Given the description of an element on the screen output the (x, y) to click on. 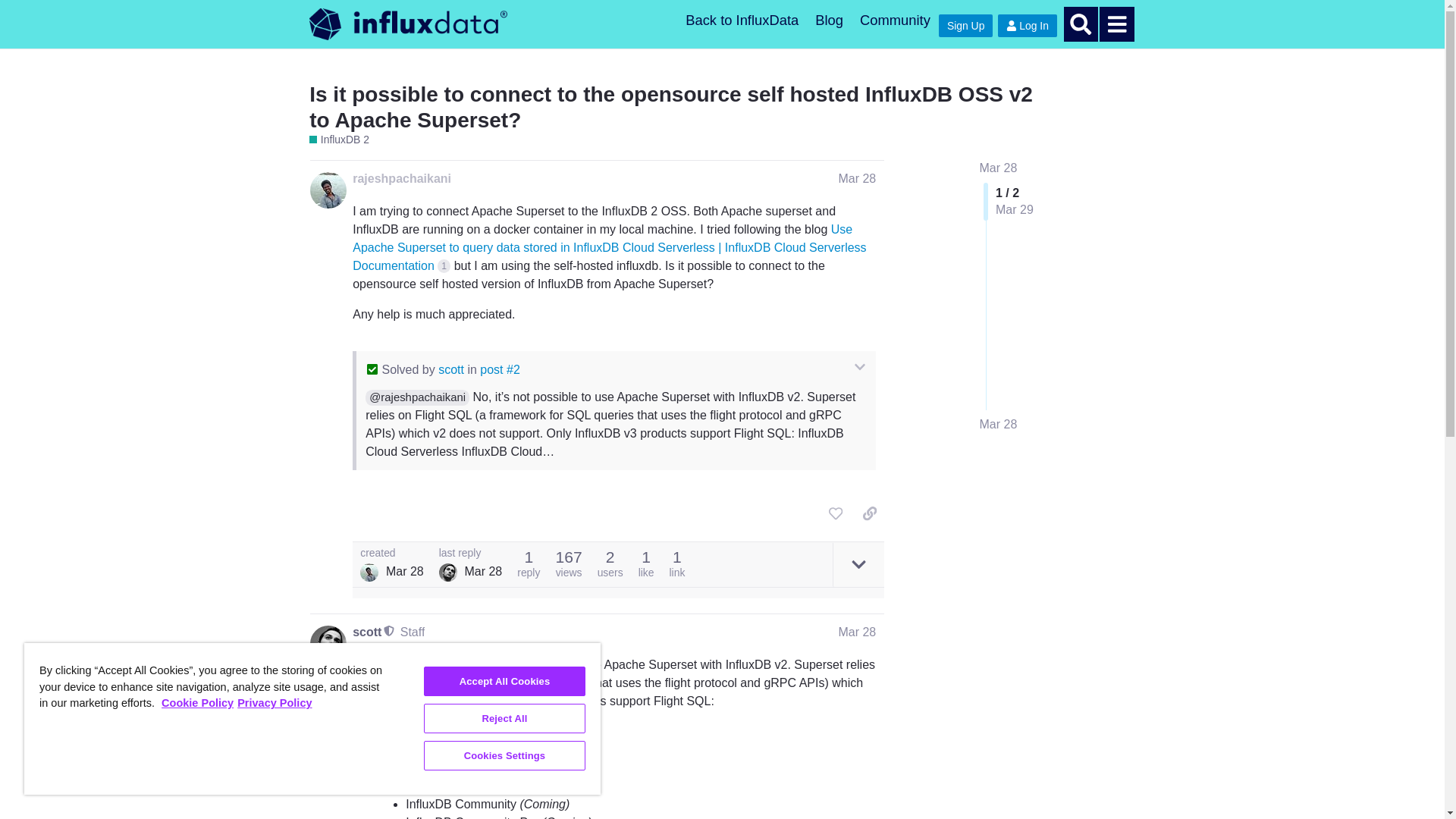
InfluxDB community showcase (895, 20)
Mar 28 (998, 167)
scott (451, 369)
Community (895, 20)
InfluxData blog posts (828, 20)
menu (1116, 23)
Mar 28 (998, 424)
Jump to the first post (998, 167)
Search (1080, 23)
Back to InfluxData (741, 20)
rajeshpachaikani (401, 177)
InfluxData website (741, 20)
Log In (1027, 25)
Blog (828, 20)
